Given the description of an element on the screen output the (x, y) to click on. 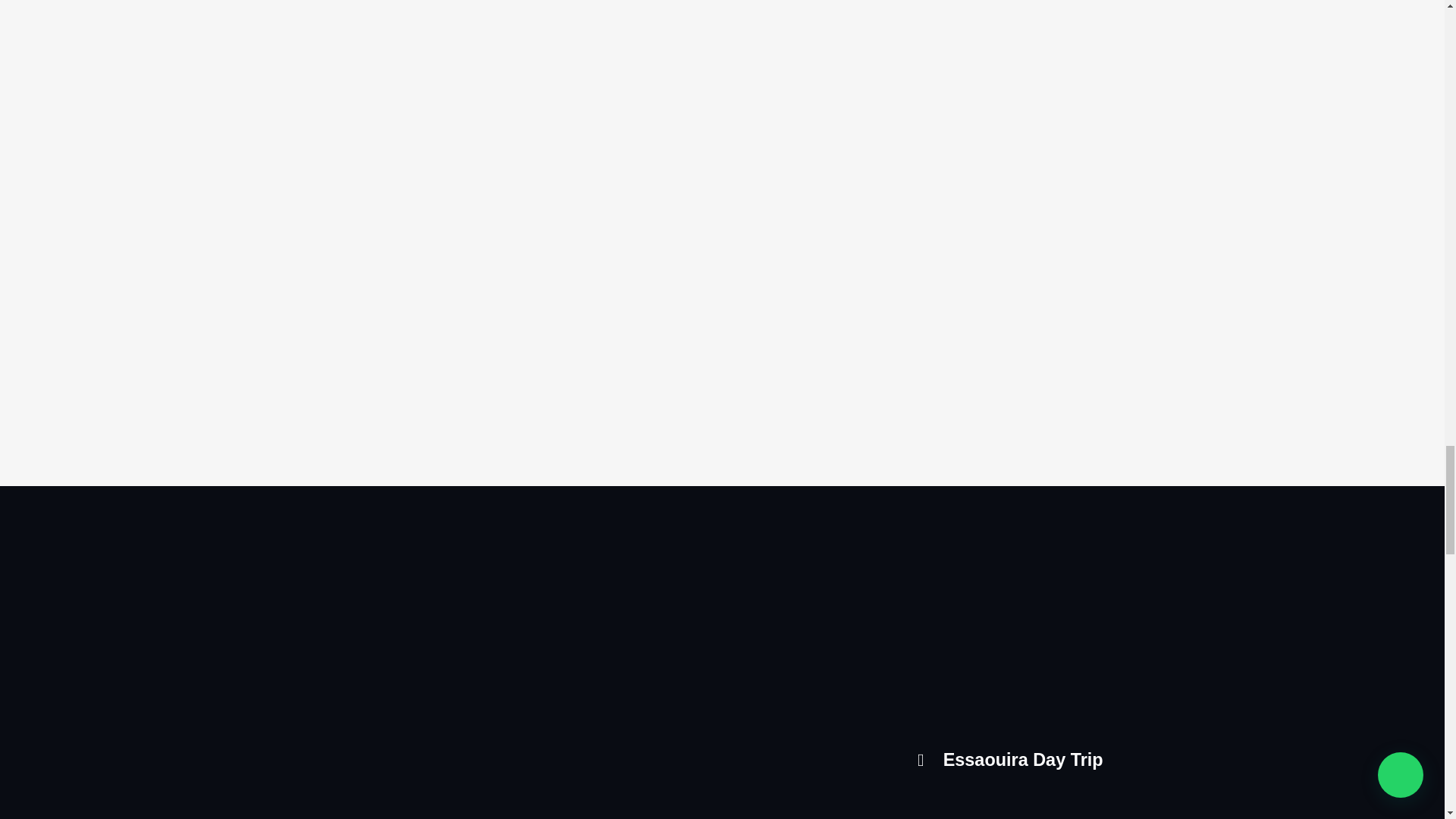
Essaouira Day Trip (1035, 760)
